Given the description of an element on the screen output the (x, y) to click on. 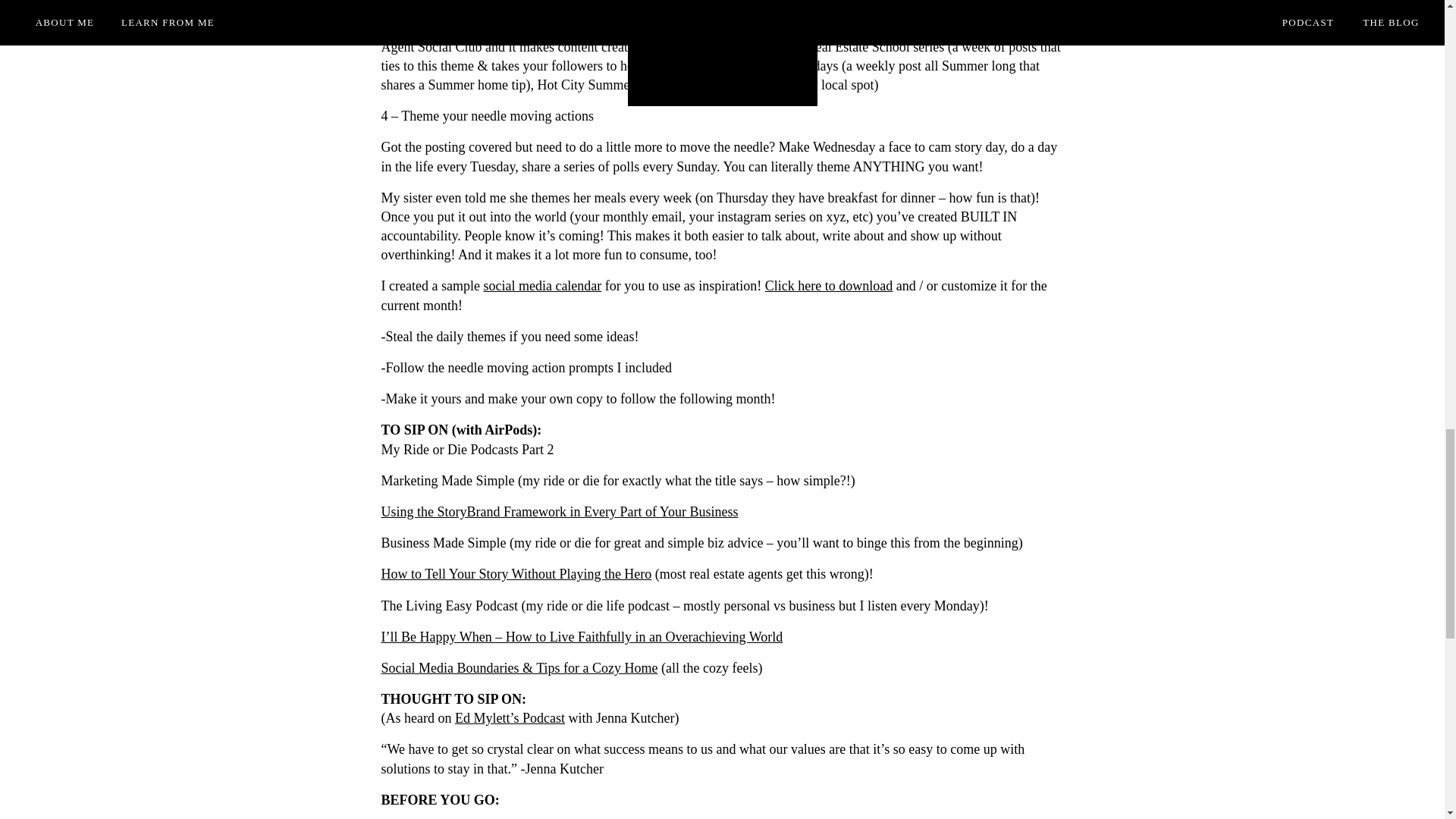
Click here to download (828, 285)
social media calendar (542, 285)
How to Tell Your Story Without Playing the Hero (515, 573)
